Given the description of an element on the screen output the (x, y) to click on. 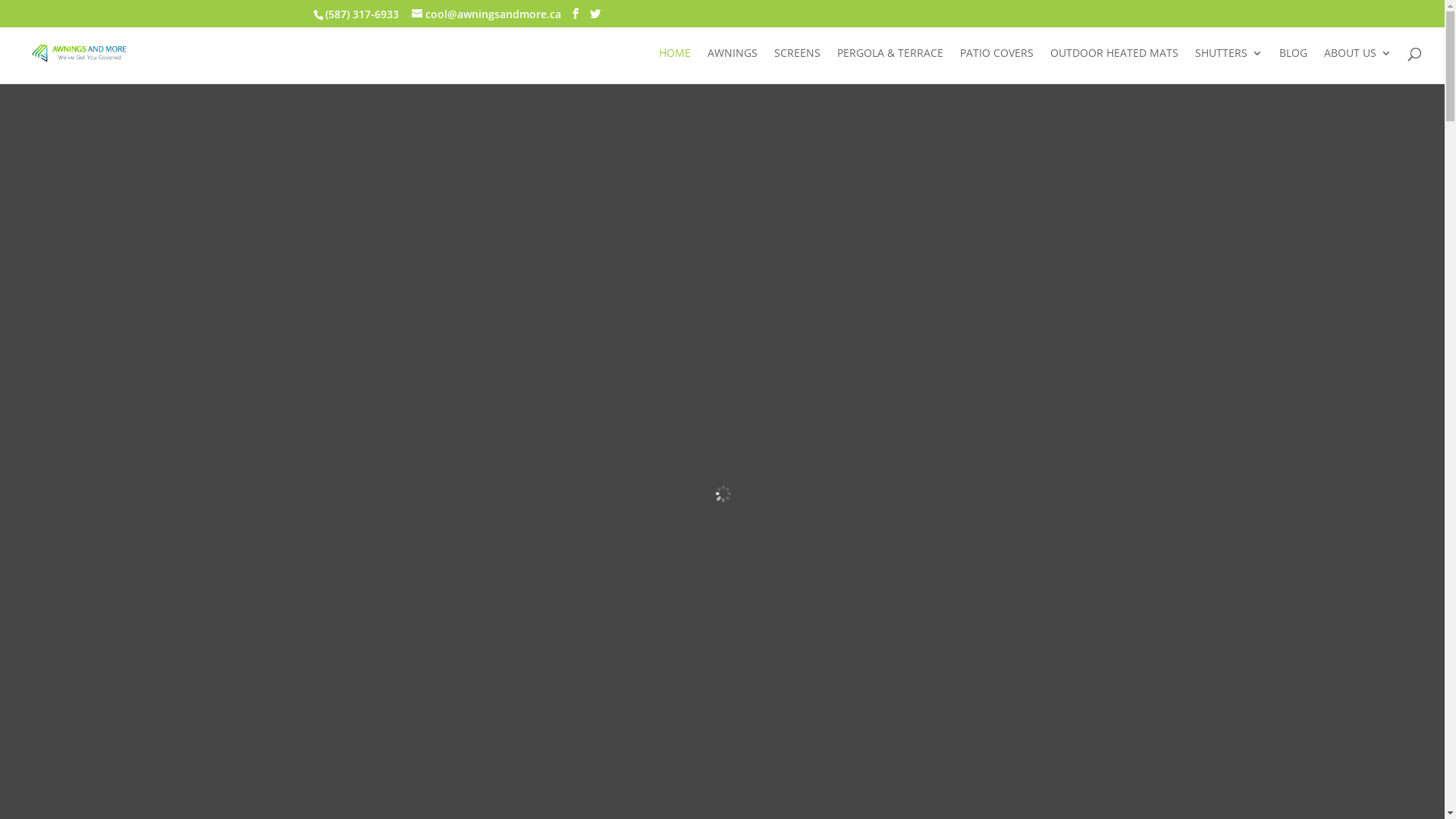
ABOUT US Element type: text (1357, 65)
OUTDOOR HEATED MATS Element type: text (1114, 65)
PATIO COVERS Element type: text (996, 65)
SCREENS Element type: text (797, 65)
cool@awningsandmore.ca Element type: text (485, 13)
AWNINGS Element type: text (732, 65)
PERGOLA & TERRACE Element type: text (890, 65)
HOME Element type: text (674, 65)
SHUTTERS Element type: text (1228, 65)
BLOG Element type: text (1293, 65)
